Given the description of an element on the screen output the (x, y) to click on. 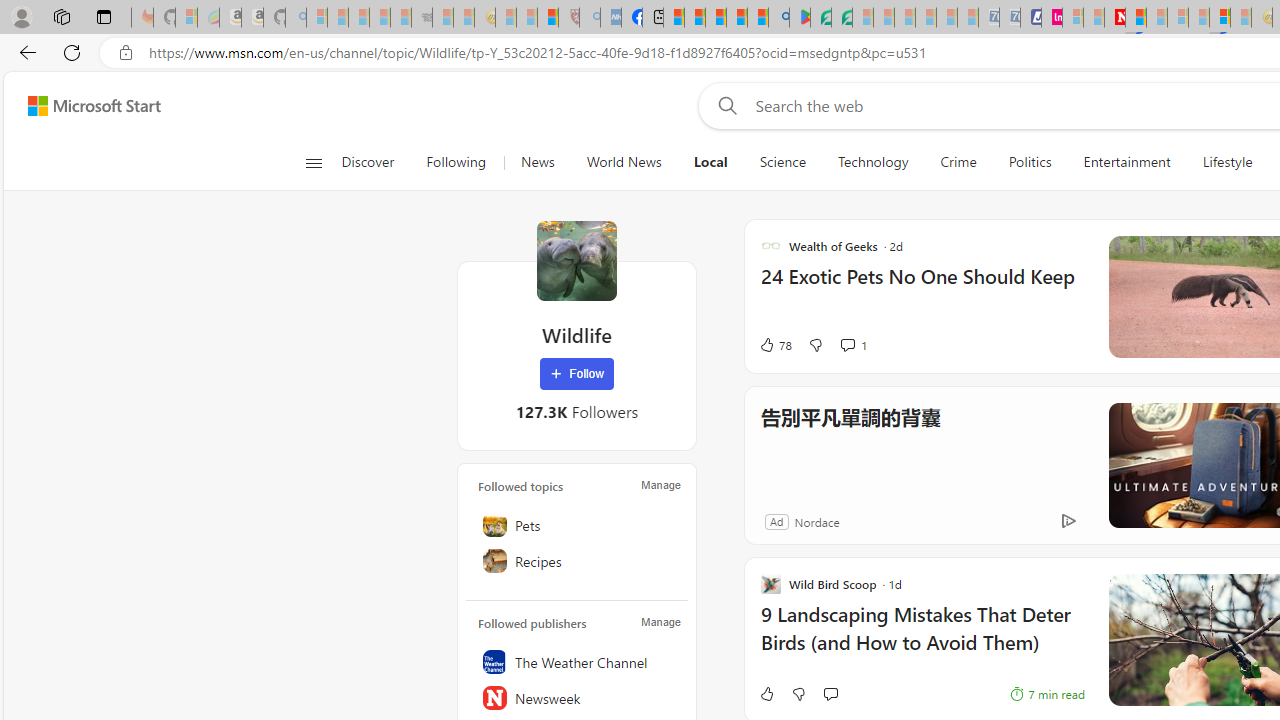
Pets - MSN (737, 17)
Open navigation menu (313, 162)
